Given the description of an element on the screen output the (x, y) to click on. 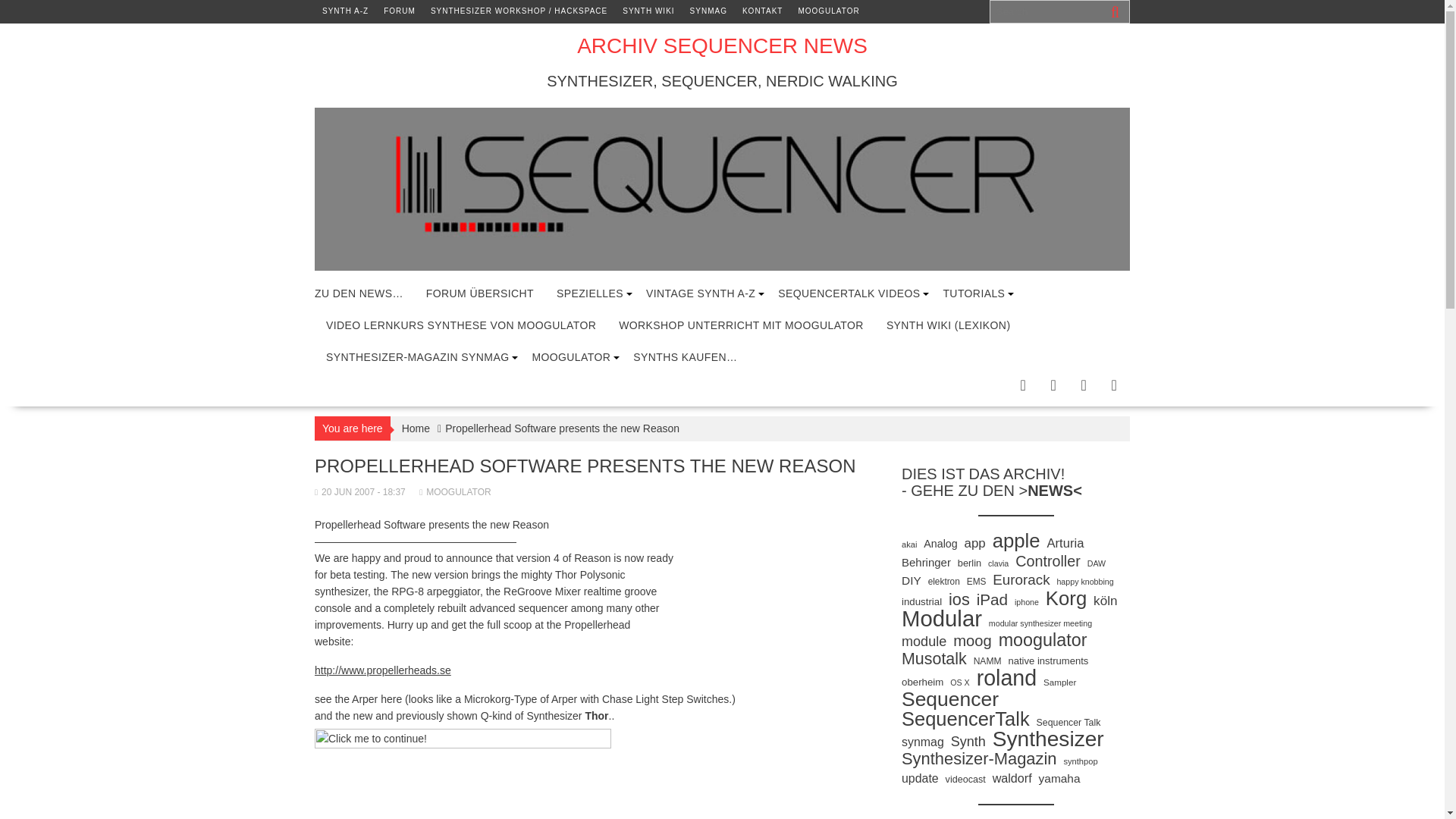
Moogulator (828, 10)
Forum (479, 293)
News lesen (358, 293)
Themen Kategorien (589, 293)
synth workshop (518, 10)
Forum (399, 10)
FORUM (399, 10)
SYNTH A-Z (344, 10)
impressum (762, 10)
ARCHIV SEQUENCER NEWS (721, 45)
SYNTH WIKI (648, 10)
MOOGULATOR (828, 10)
SPEZIELLES (589, 293)
SYNMAG (708, 10)
Synth Makers A-Z (344, 10)
